Given the description of an element on the screen output the (x, y) to click on. 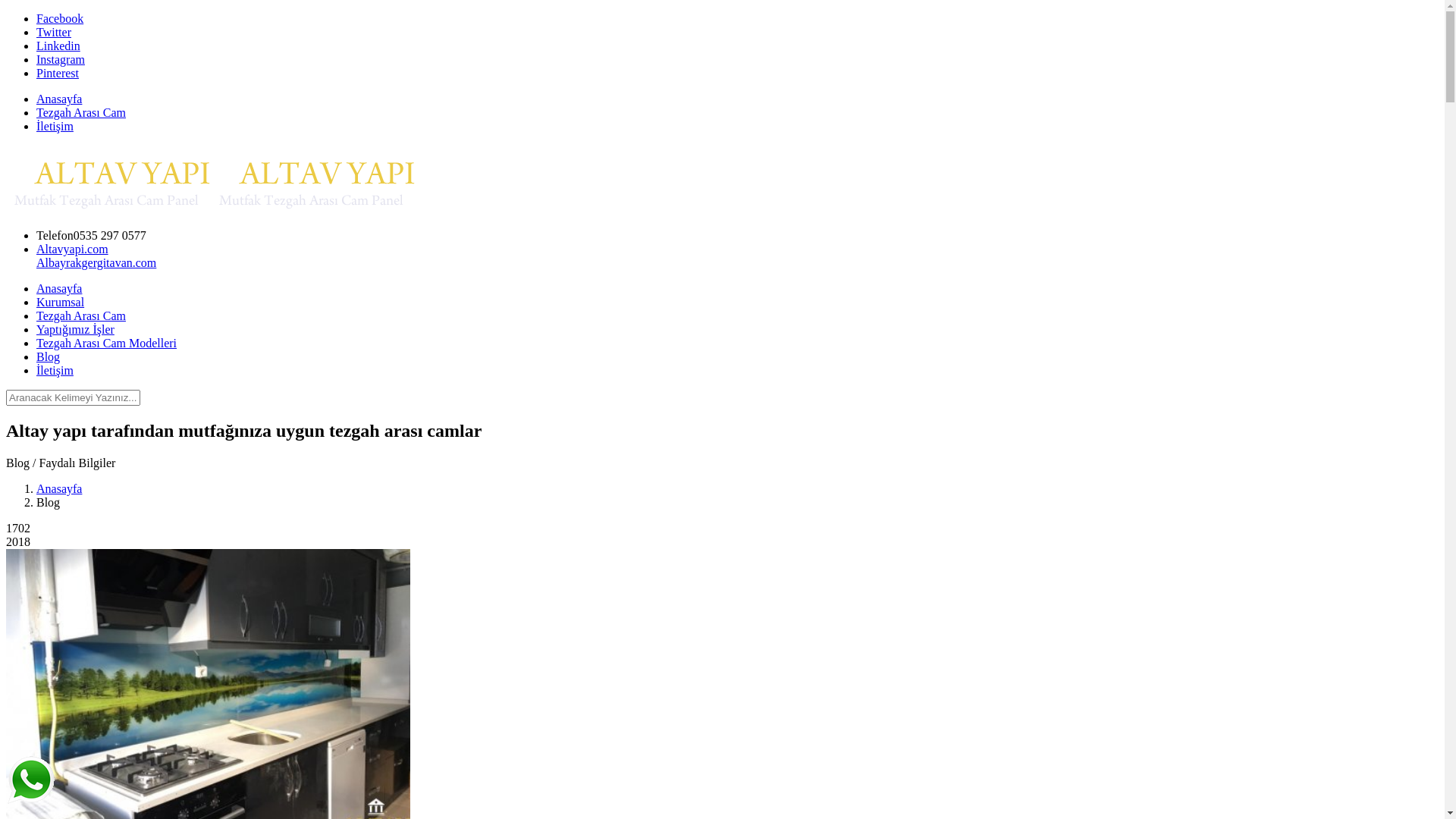
Blog Element type: text (737, 357)
Pinterest Element type: text (57, 72)
Kurumsal Element type: text (737, 302)
Anasayfa Element type: text (737, 288)
Instagram Element type: text (60, 59)
Linkedin Element type: text (58, 45)
Anasayfa Element type: text (58, 488)
Altavyapi.com Element type: text (72, 248)
Albayrakgergitavan.com Element type: text (96, 262)
Facebook Element type: text (59, 18)
Anasayfa Element type: text (58, 98)
Twitter Element type: text (53, 31)
